Given the description of an element on the screen output the (x, y) to click on. 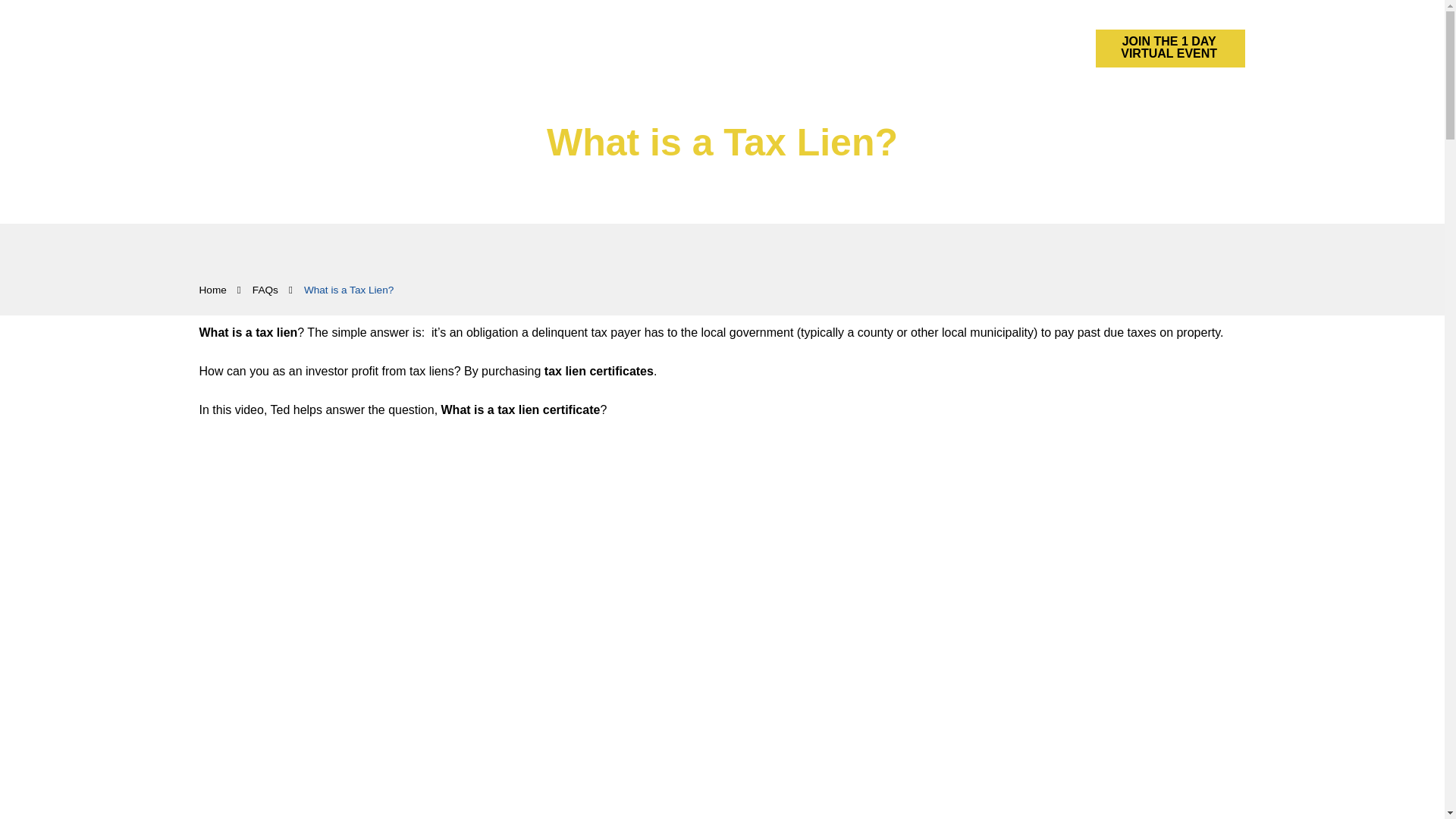
Contact (999, 46)
About (950, 46)
FAQ (910, 46)
